Given the description of an element on the screen output the (x, y) to click on. 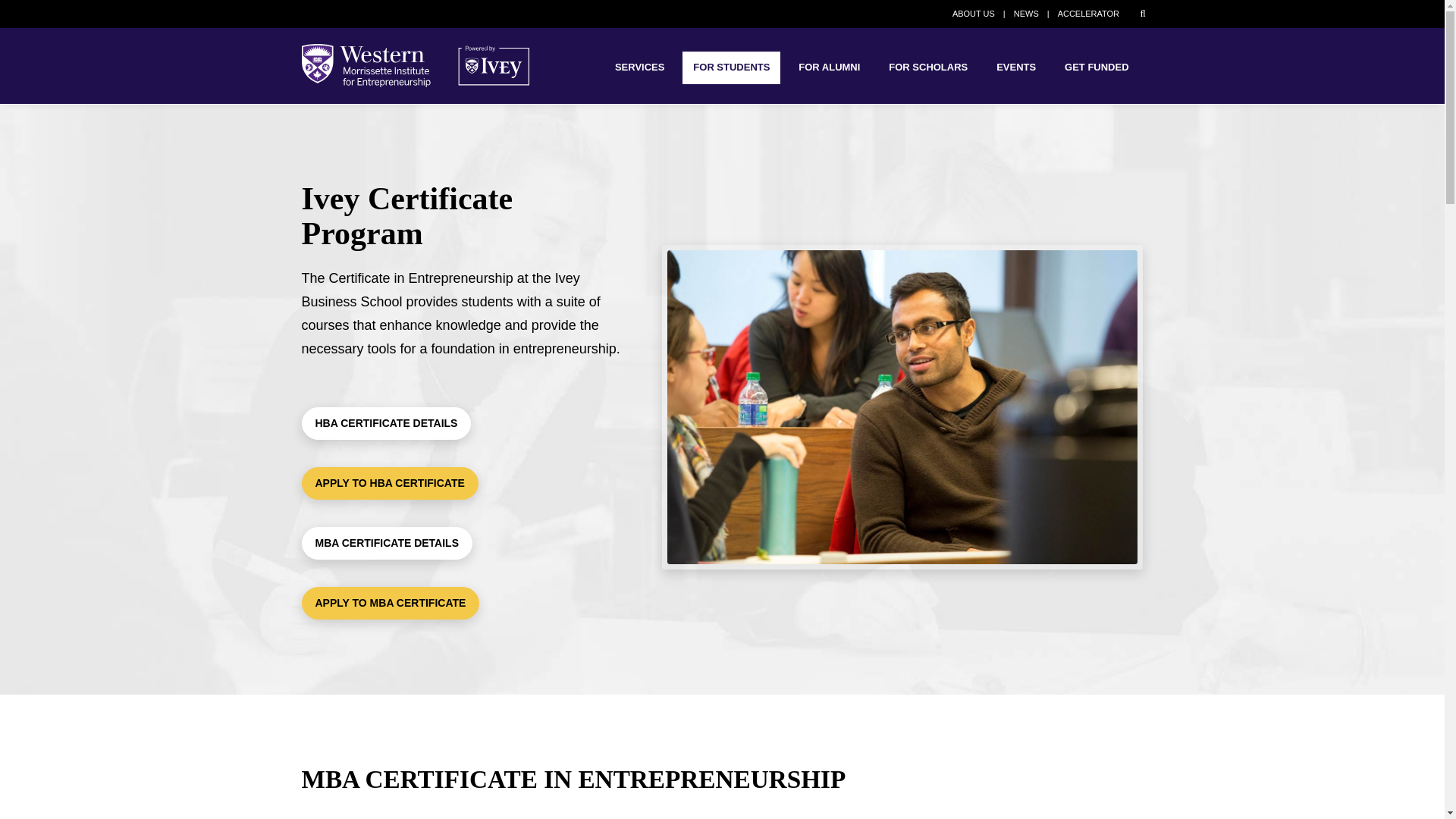
SERVICES (639, 67)
News (1026, 13)
About Us (973, 13)
ABOUT US (973, 13)
Accelerator (1088, 13)
ACCELERATOR (1088, 13)
NEWS (1026, 13)
FOR STUDENTS (731, 67)
Services Links (639, 67)
